Given the description of an element on the screen output the (x, y) to click on. 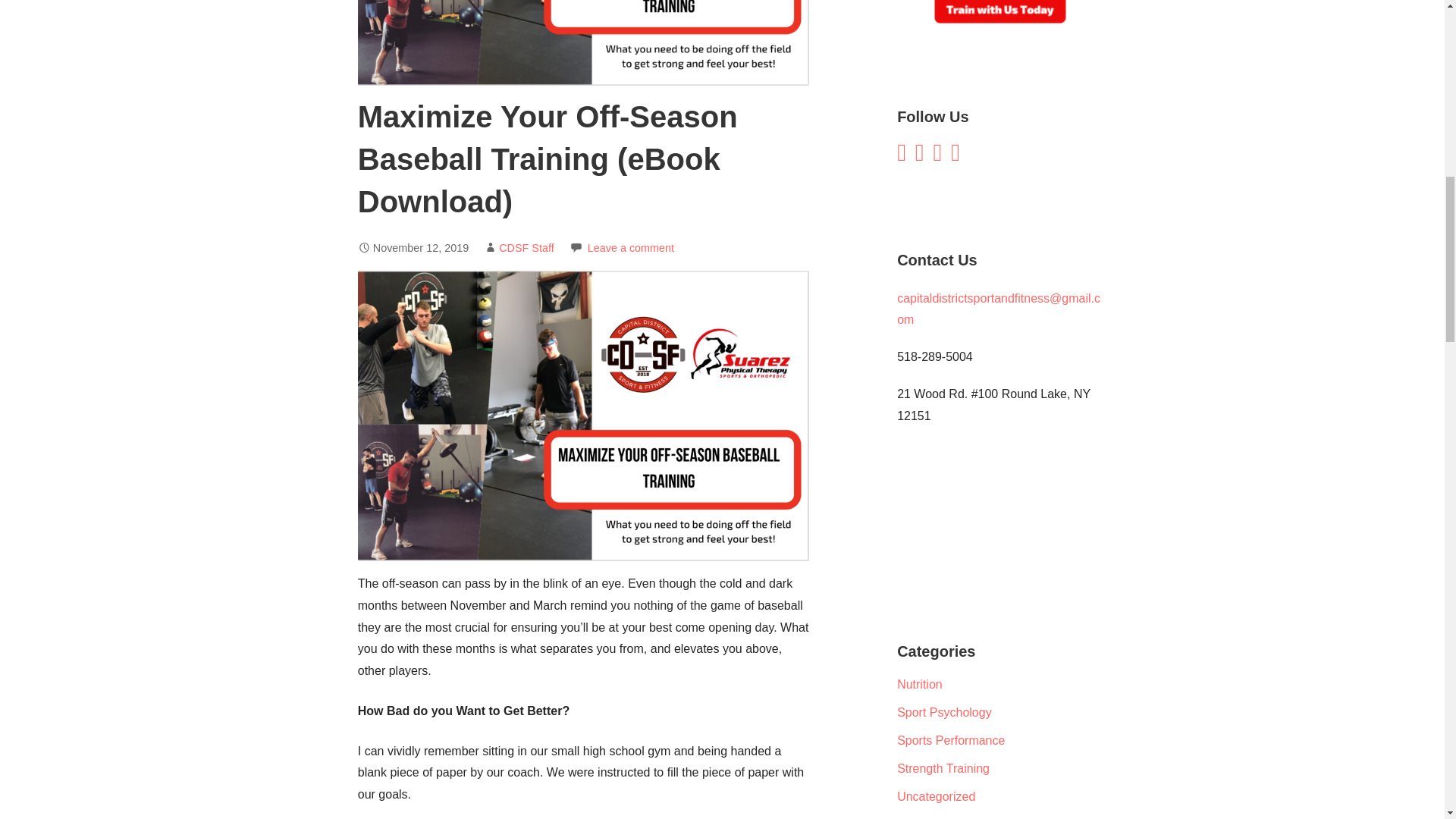
Sport Psychology (943, 712)
Leave a comment (631, 247)
Uncategorized (935, 796)
Strength Training (943, 768)
Sports Performance (950, 739)
Posts by CDSF Staff (526, 247)
CDSF Staff (526, 247)
Nutrition (919, 684)
